Given the description of an element on the screen output the (x, y) to click on. 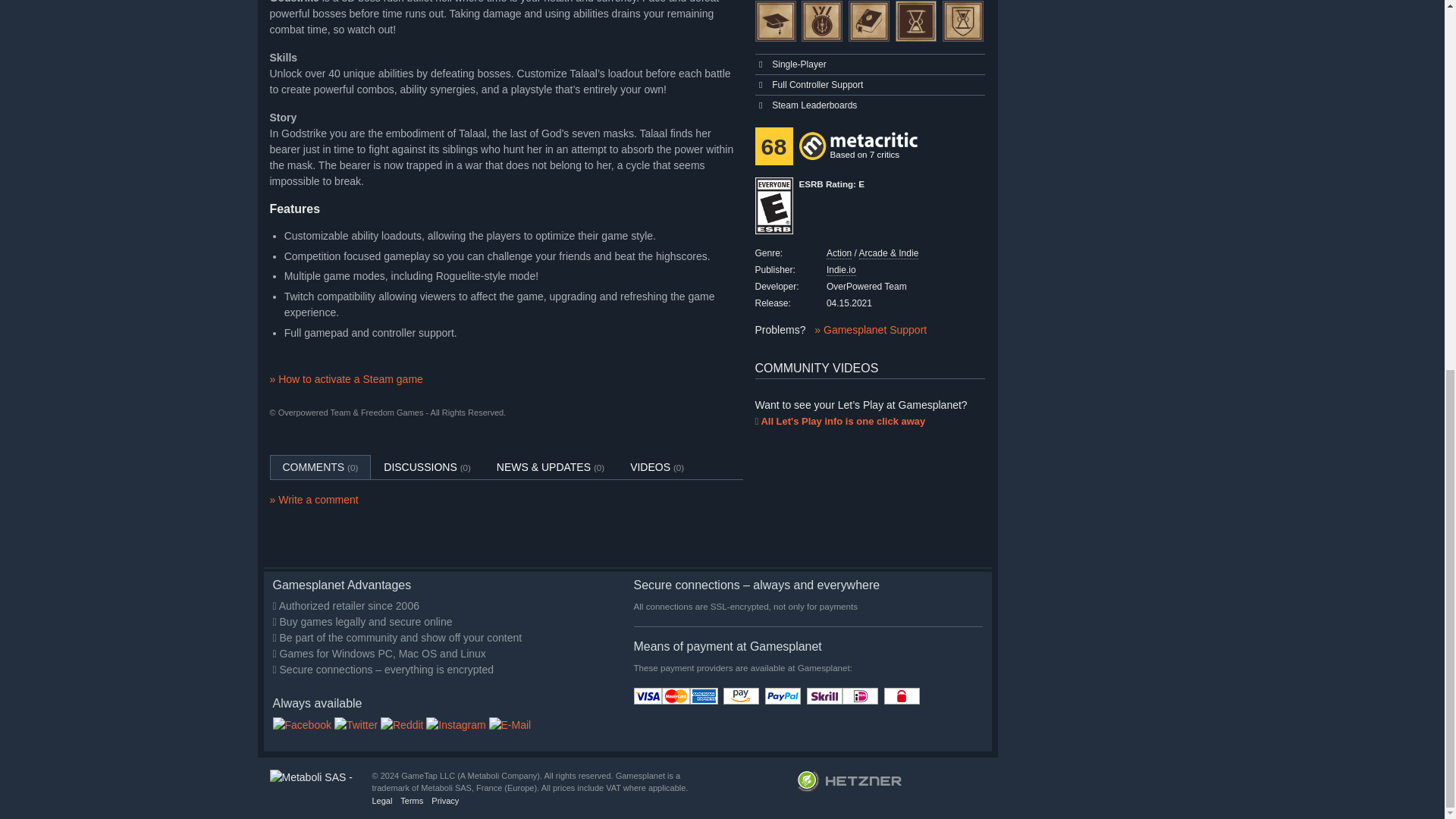
Achievement: Beginner (775, 20)
Achievement: Master (868, 20)
Achievement: Unbeatable (822, 20)
translation missing: en-US.community.tabs.videos (649, 467)
Achievement: Untouchable (963, 20)
Achievement: Limit (915, 20)
